Given the description of an element on the screen output the (x, y) to click on. 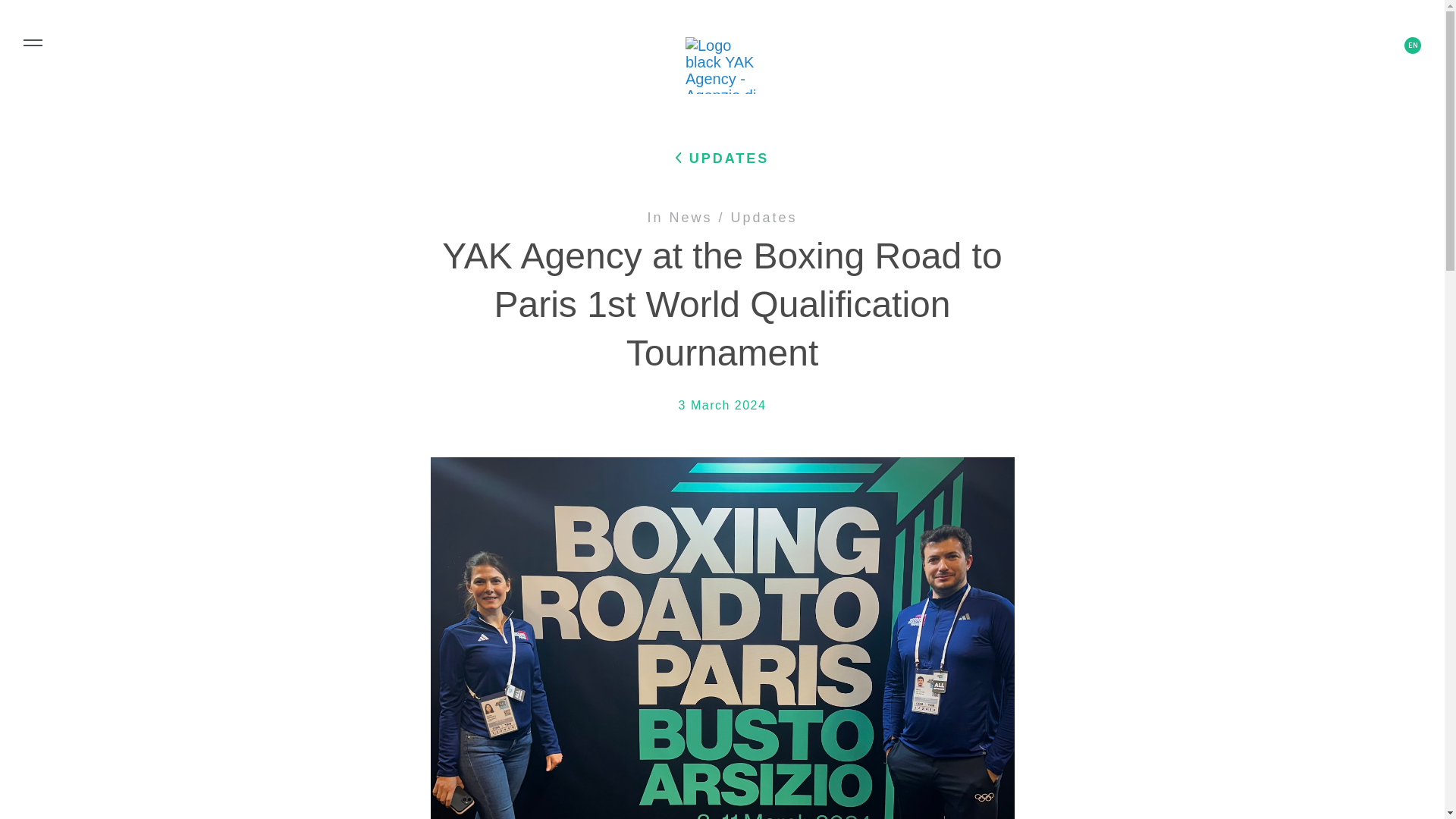
EN (1413, 45)
send message (49, 13)
News (689, 217)
Updates (763, 217)
UPDATES (722, 158)
